Given the description of an element on the screen output the (x, y) to click on. 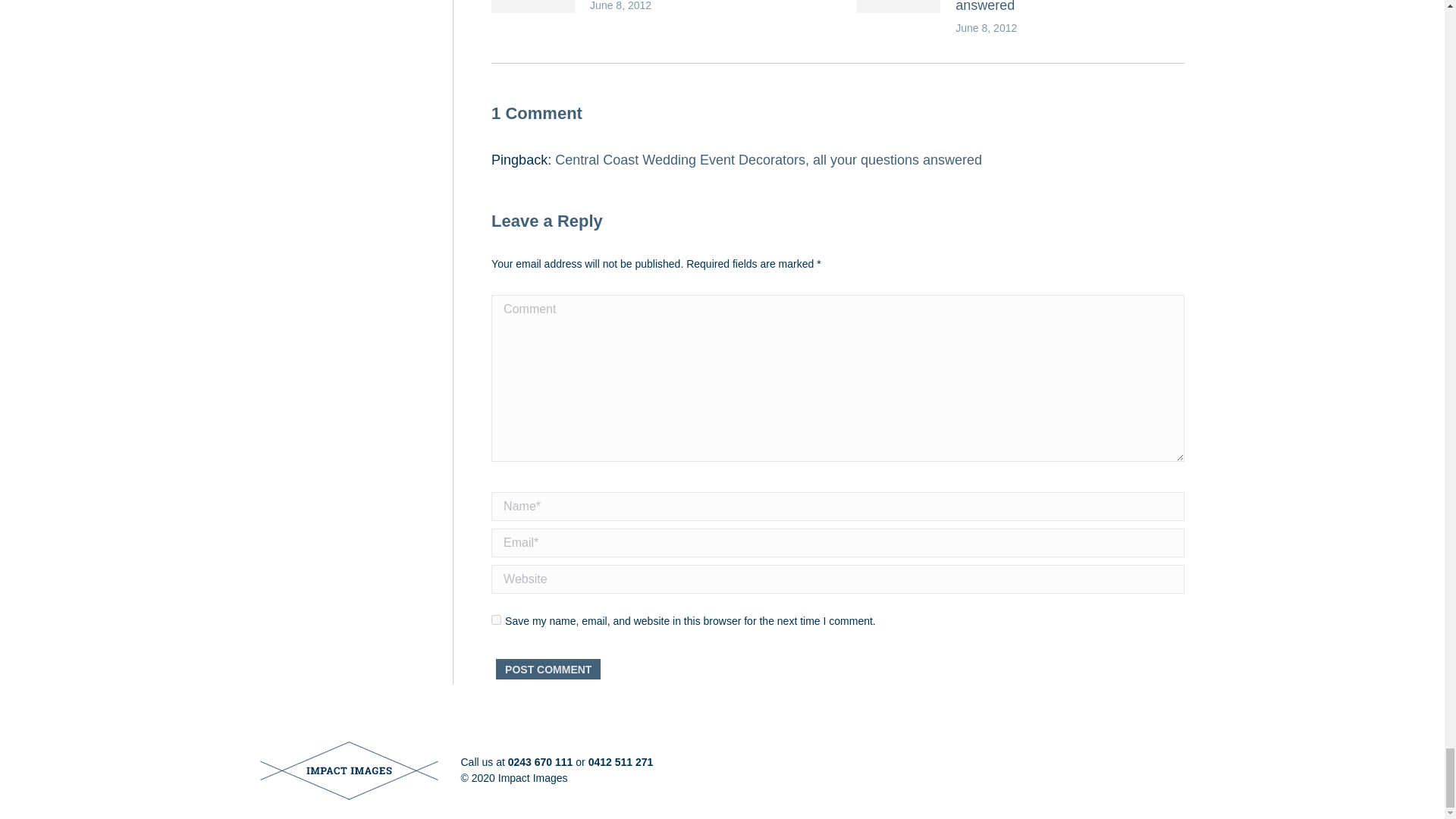
yes (496, 619)
POST COMMENT (548, 668)
